Given the description of an element on the screen output the (x, y) to click on. 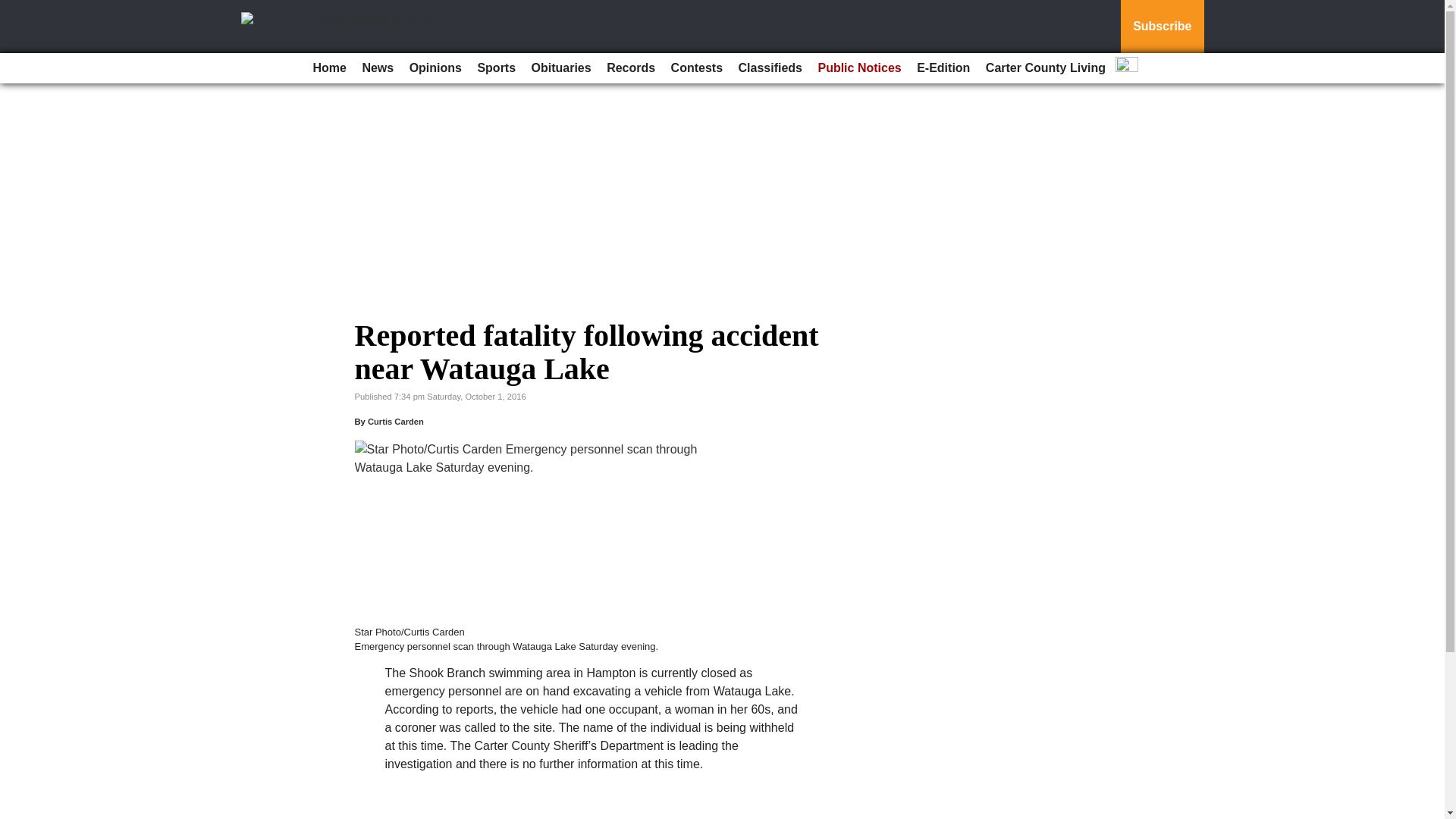
Curtis Carden (395, 420)
Sports (495, 68)
Obituaries (560, 68)
Classifieds (770, 68)
Carter County Living (1045, 68)
Home (328, 68)
E-Edition (943, 68)
Public Notices (858, 68)
Records (630, 68)
News (376, 68)
